Given the description of an element on the screen output the (x, y) to click on. 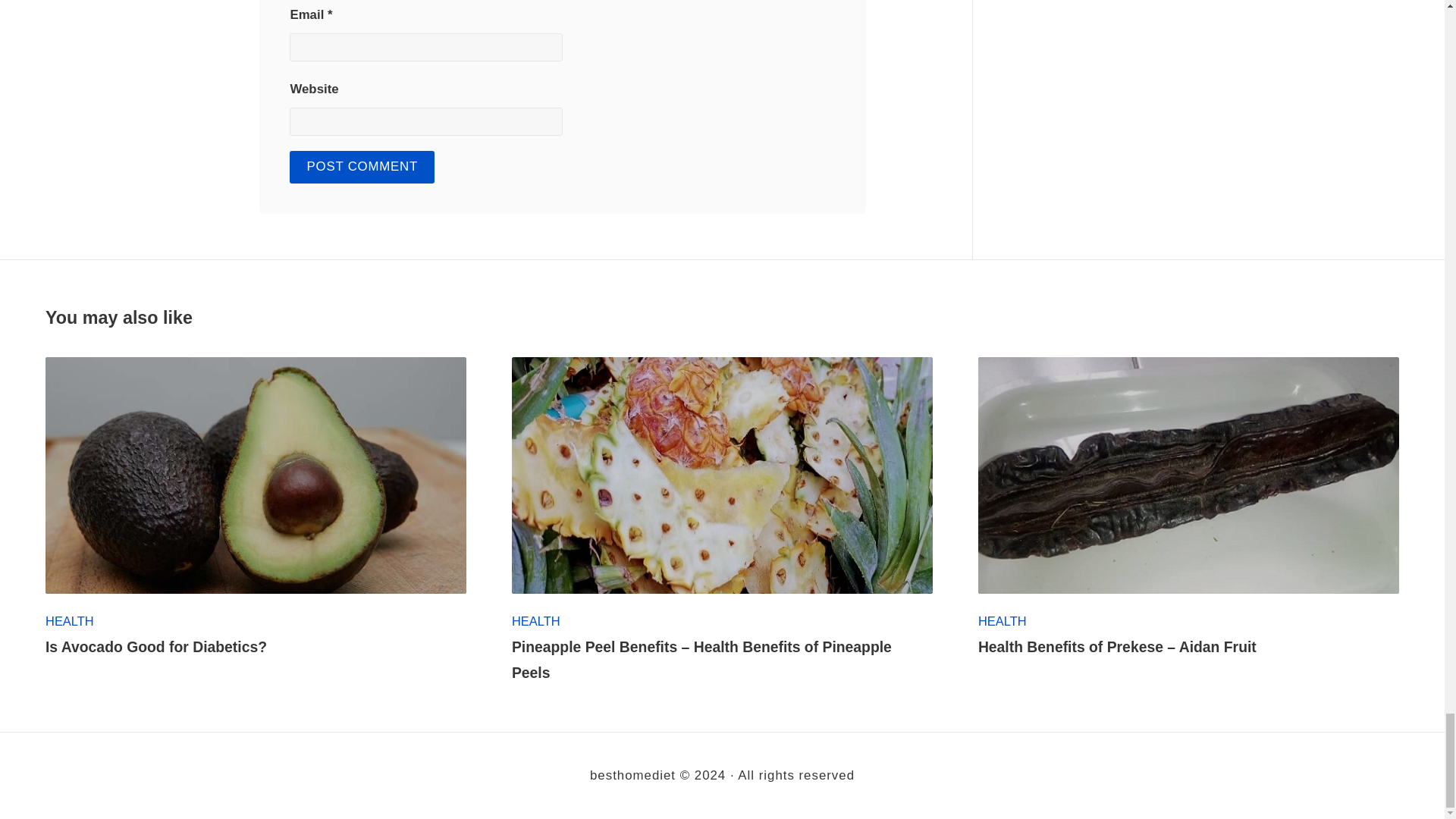
Post Comment (361, 166)
Post Comment (361, 166)
